Given the description of an element on the screen output the (x, y) to click on. 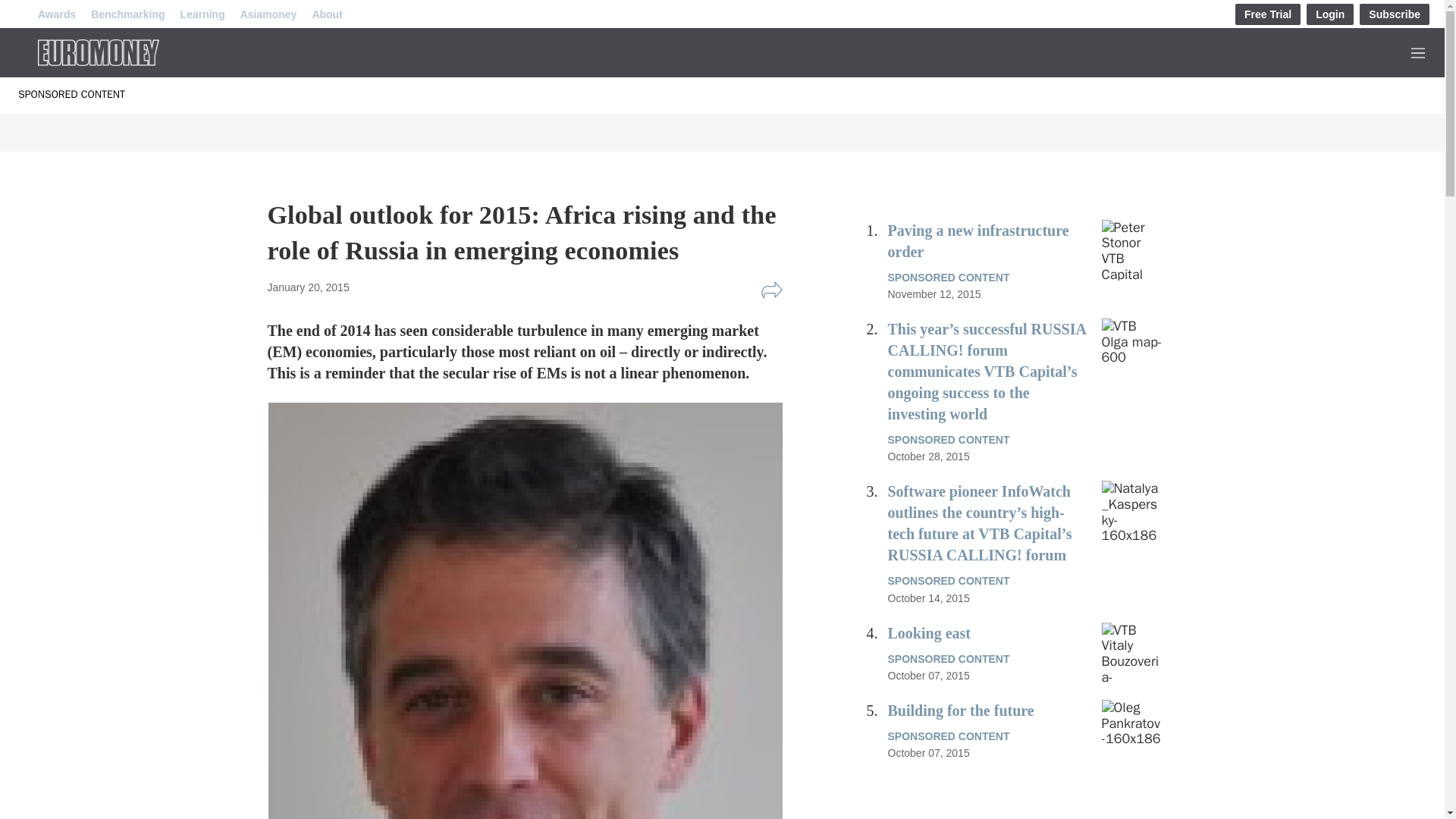
Awards (56, 13)
Learning (202, 13)
Login (1329, 13)
Subscribe (1394, 13)
About (326, 13)
Share (771, 290)
Free Trial (1267, 13)
Asiamoney (268, 13)
Benchmarking (127, 13)
